Given the description of an element on the screen output the (x, y) to click on. 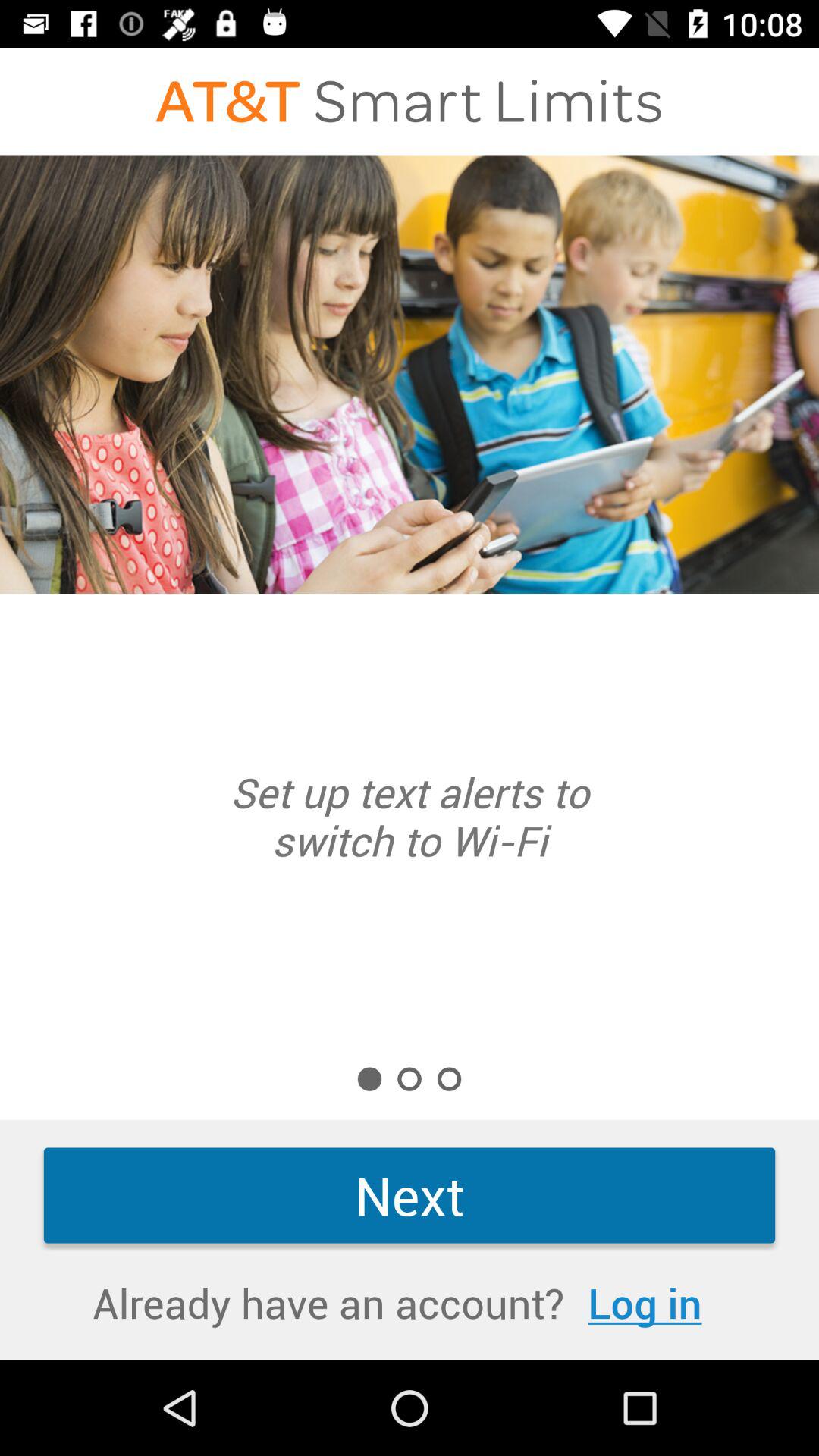
choose the icon at the bottom right corner (644, 1302)
